Given the description of an element on the screen output the (x, y) to click on. 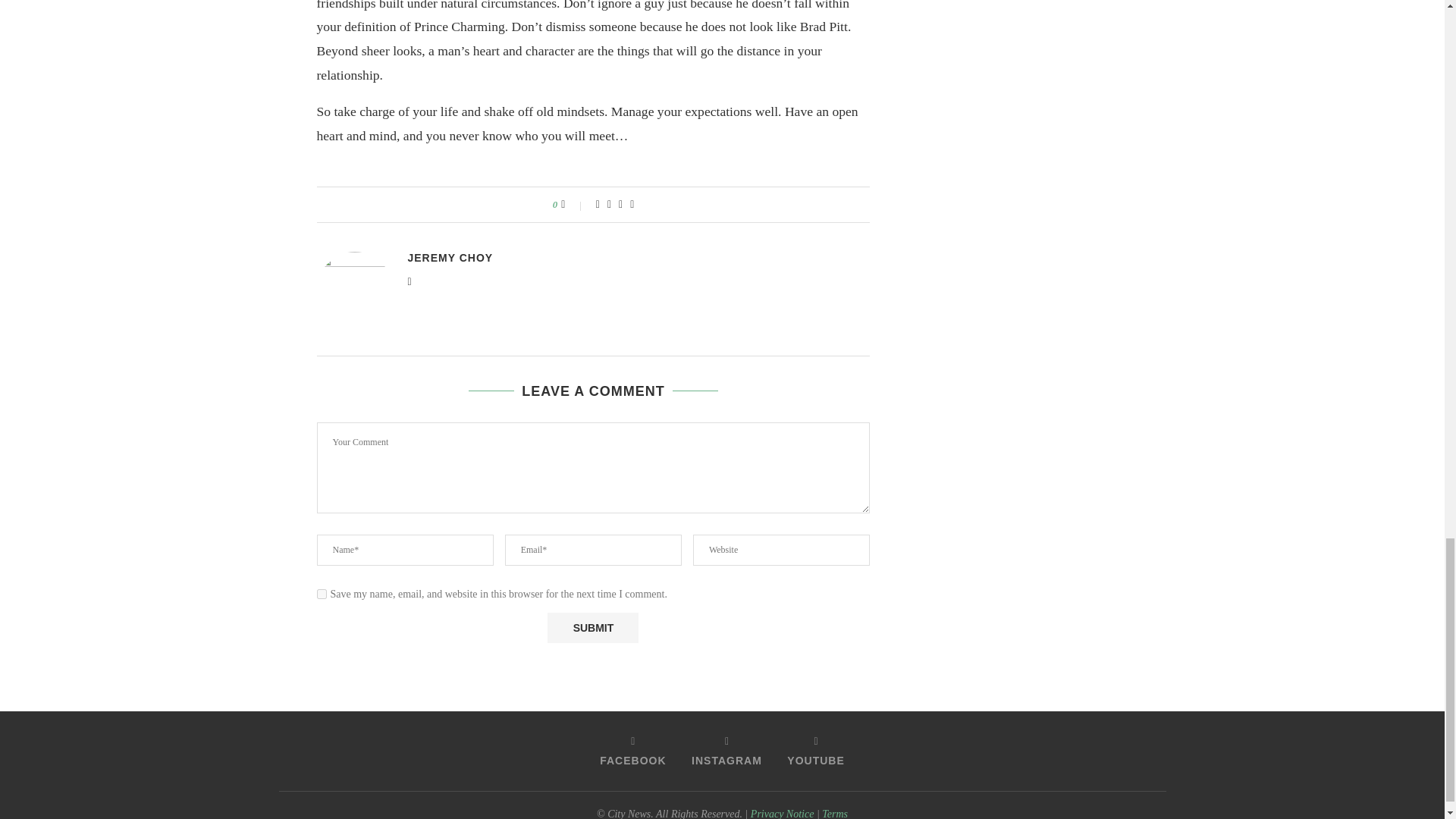
Like (572, 204)
Posts by Jeremy Choy (450, 257)
Submit (593, 627)
yes (321, 593)
